Given the description of an element on the screen output the (x, y) to click on. 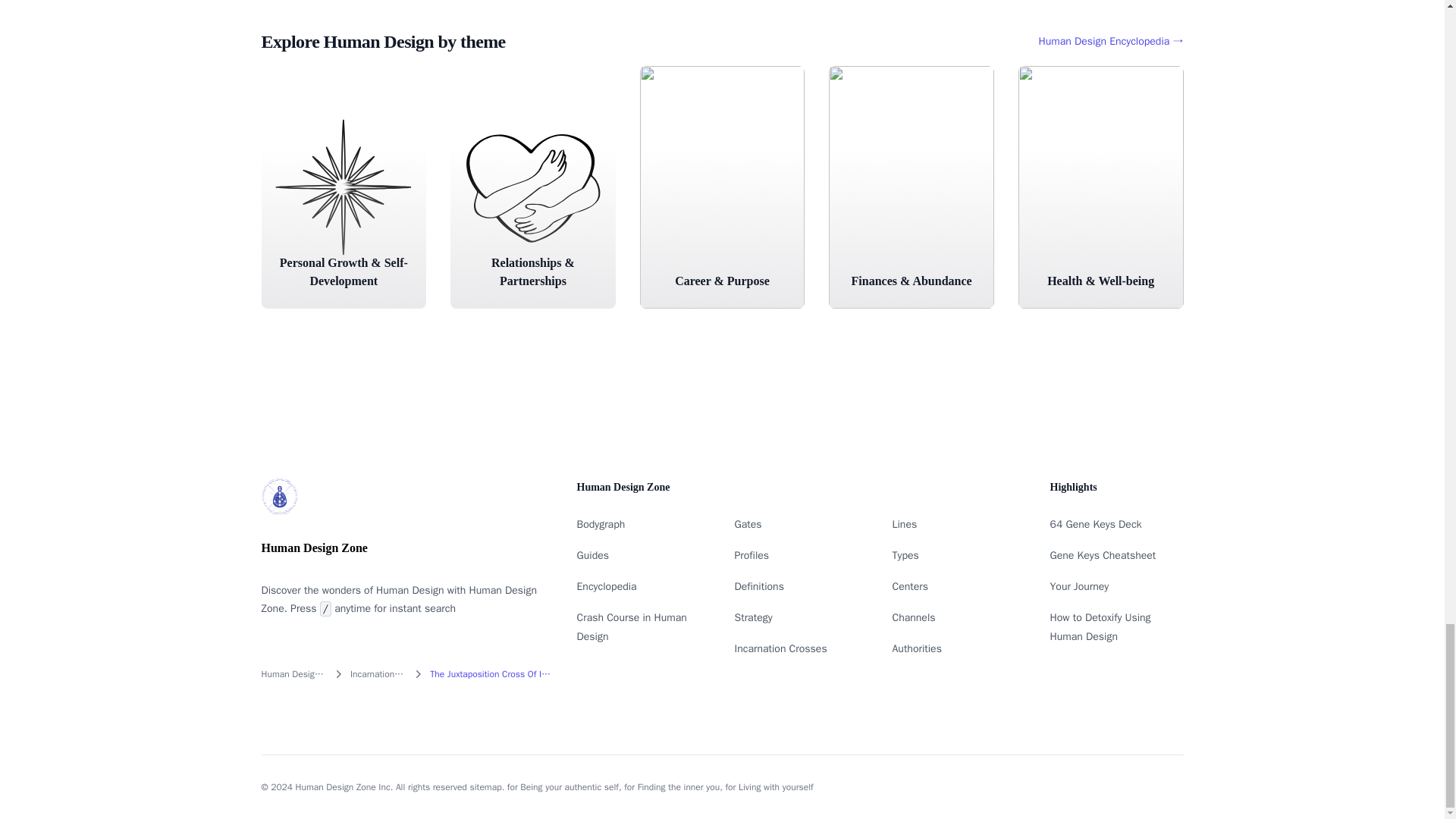
Human Design Zone (292, 674)
Profiles (750, 554)
Definitions (758, 585)
Strategy (752, 617)
Bodygraph (600, 523)
Gene Keys Cheatsheet (1102, 554)
Gates (747, 523)
Guides (592, 554)
Channels (912, 617)
Incarnation Crosses (780, 648)
